Given the description of an element on the screen output the (x, y) to click on. 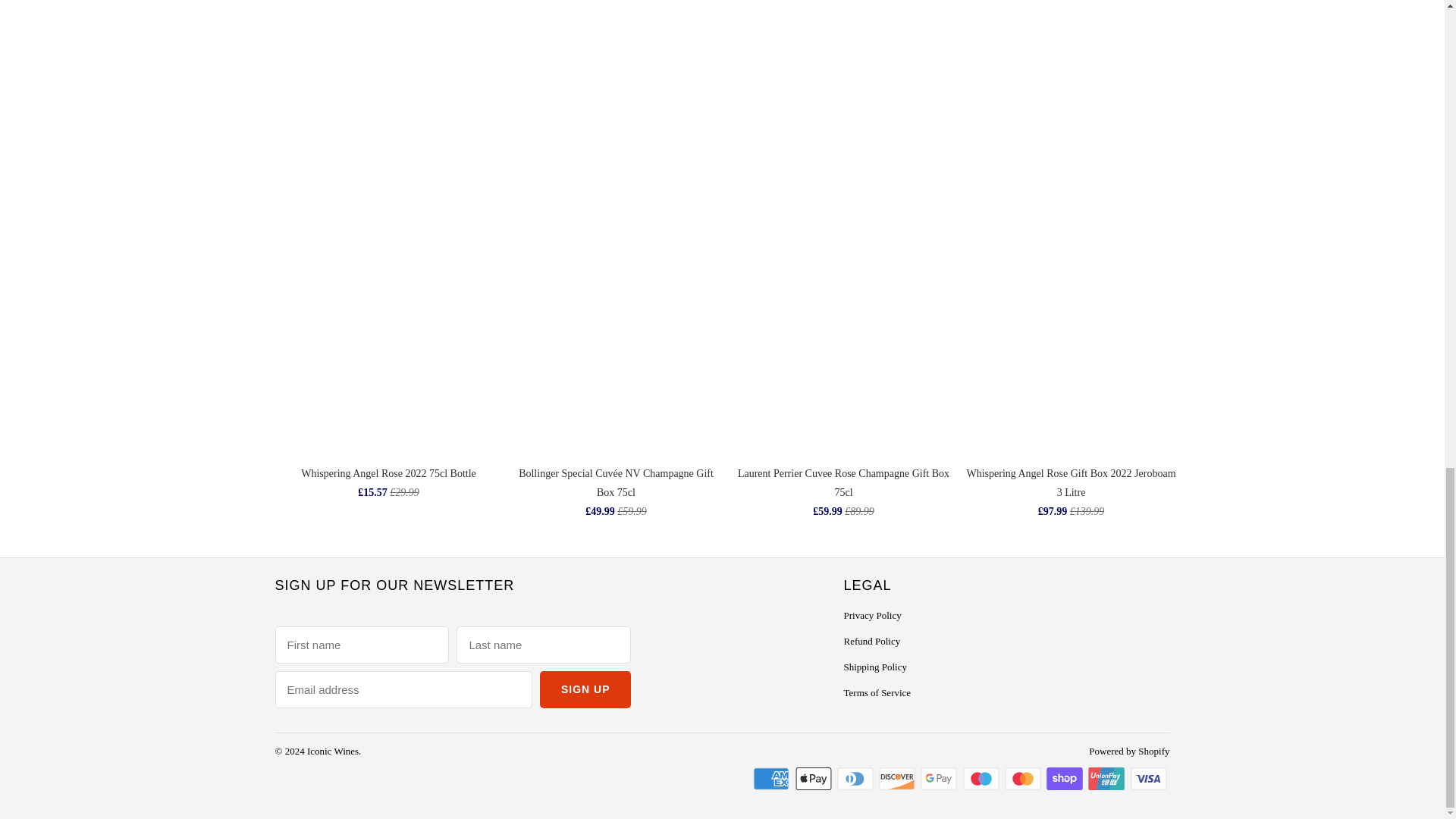
Sign Up (585, 689)
Union Pay (1106, 778)
Visa (1149, 778)
Maestro (982, 778)
Shop Pay (1066, 778)
Apple Pay (814, 778)
Discover (898, 778)
Mastercard (1023, 778)
American Express (772, 778)
Diners Club (856, 778)
